Given the description of an element on the screen output the (x, y) to click on. 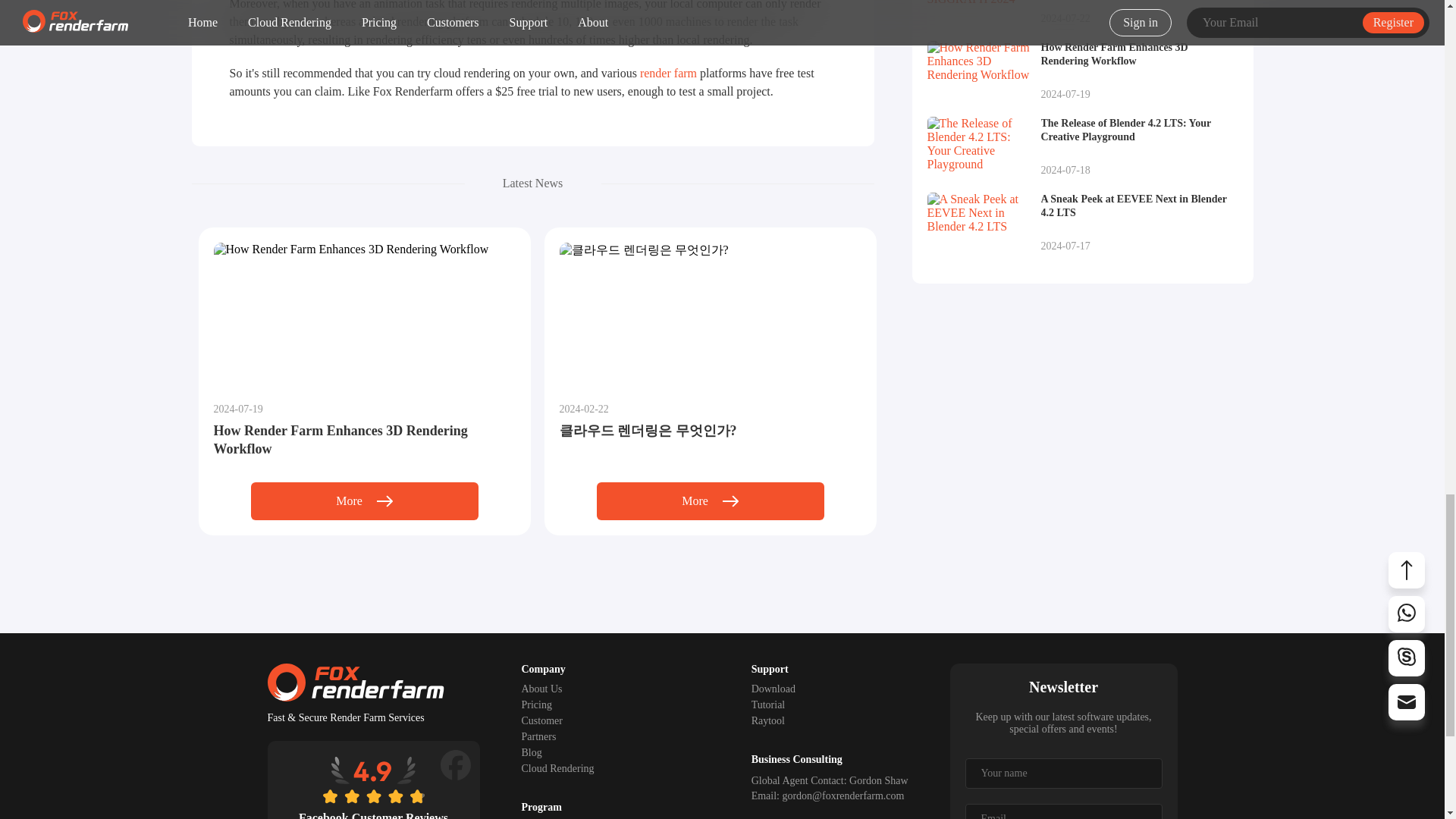
render farm (668, 72)
Please fill out this field. (1062, 773)
render farm (668, 72)
